Given the description of an element on the screen output the (x, y) to click on. 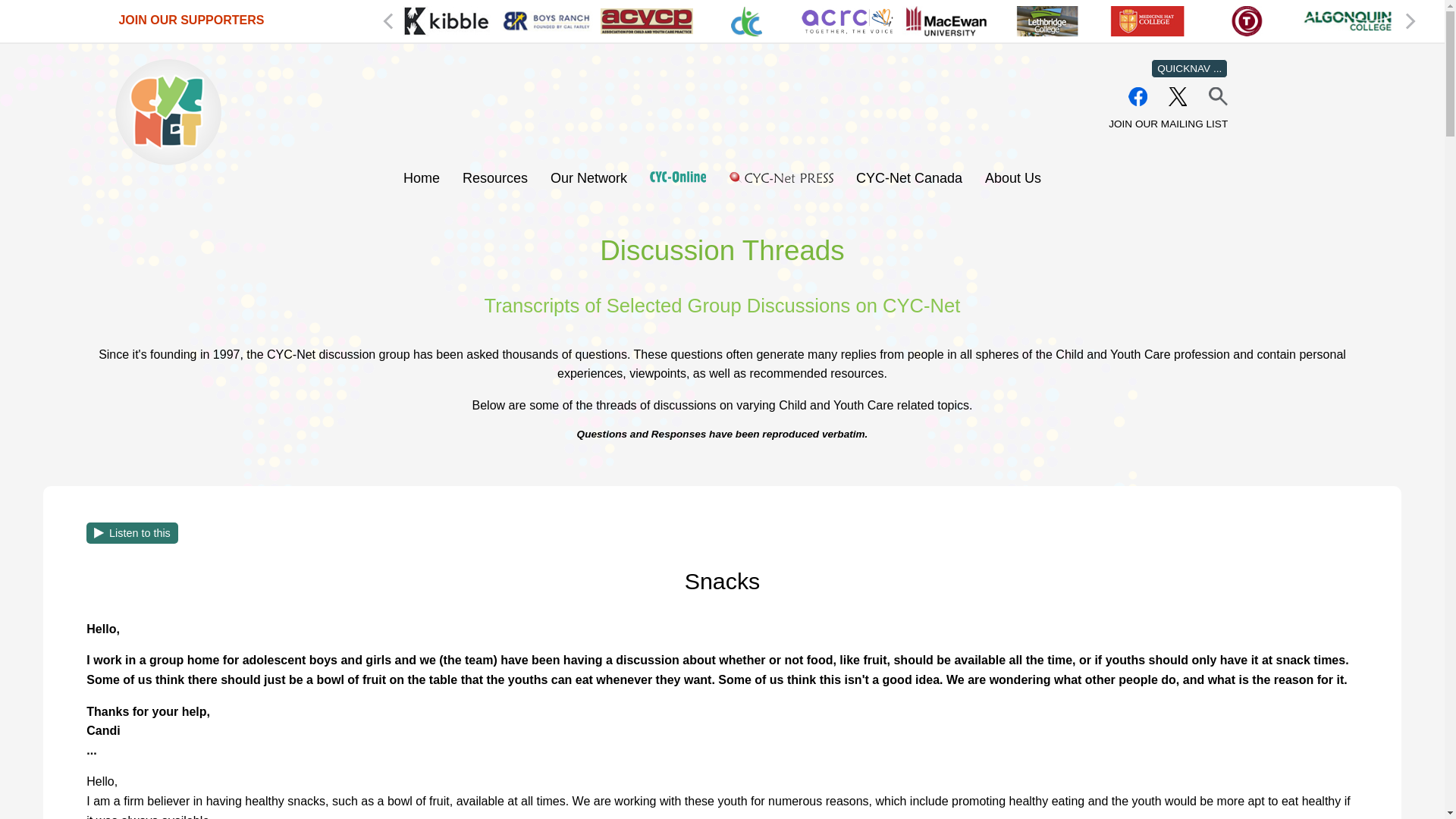
JOIN OUR SUPPORTERS (190, 19)
